Given the description of an element on the screen output the (x, y) to click on. 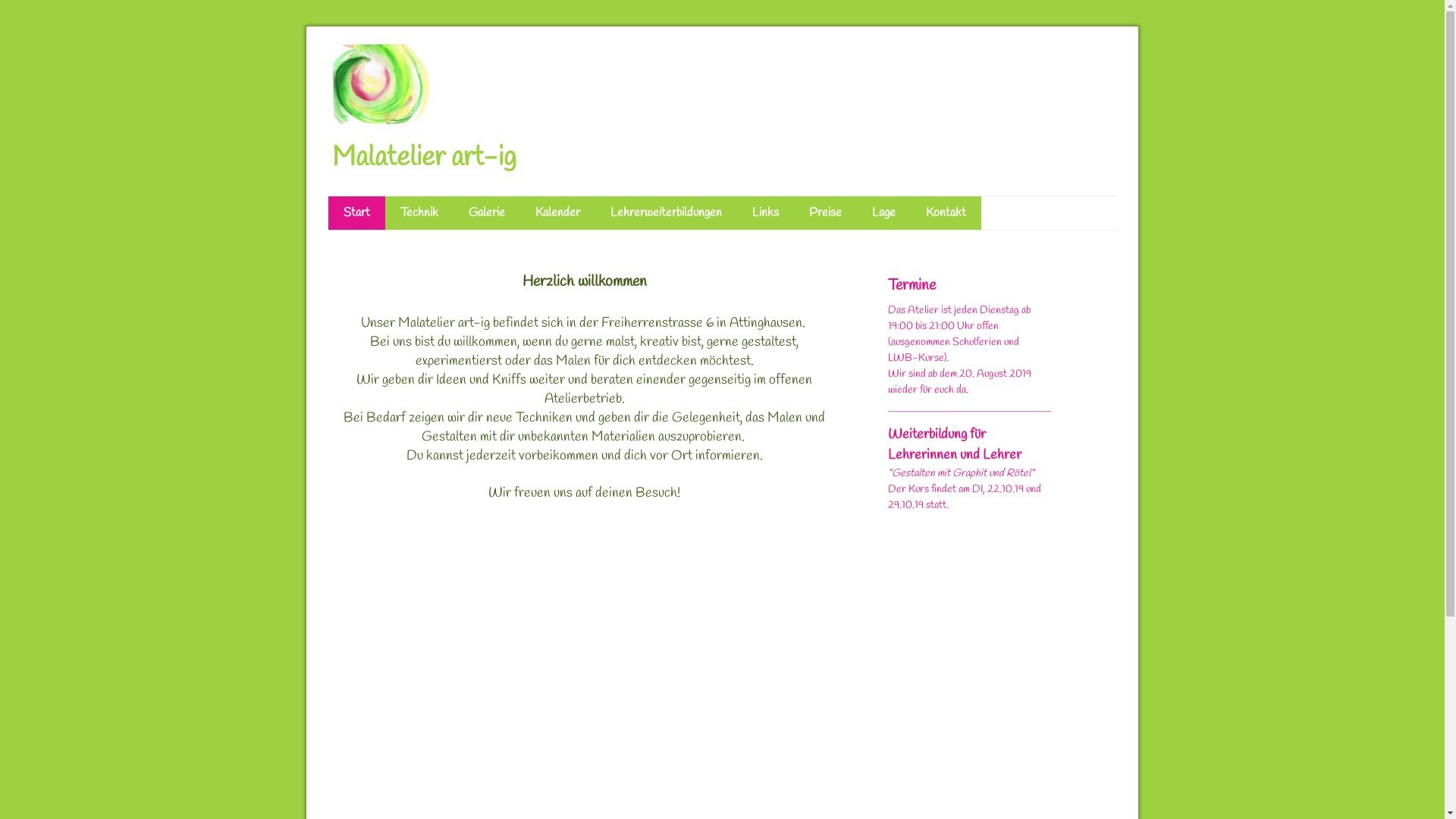
Technik Element type: text (419, 212)
Galerie Element type: text (486, 212)
Kontakt Element type: text (945, 212)
Malatelier art-ig Element type: text (424, 160)
Lehrerweiterbildungen Element type: text (665, 212)
Links Element type: text (765, 212)
Kalender Element type: text (557, 212)
Start Element type: text (355, 212)
Preise Element type: text (824, 212)
Lage Element type: text (883, 212)
